Given the description of an element on the screen output the (x, y) to click on. 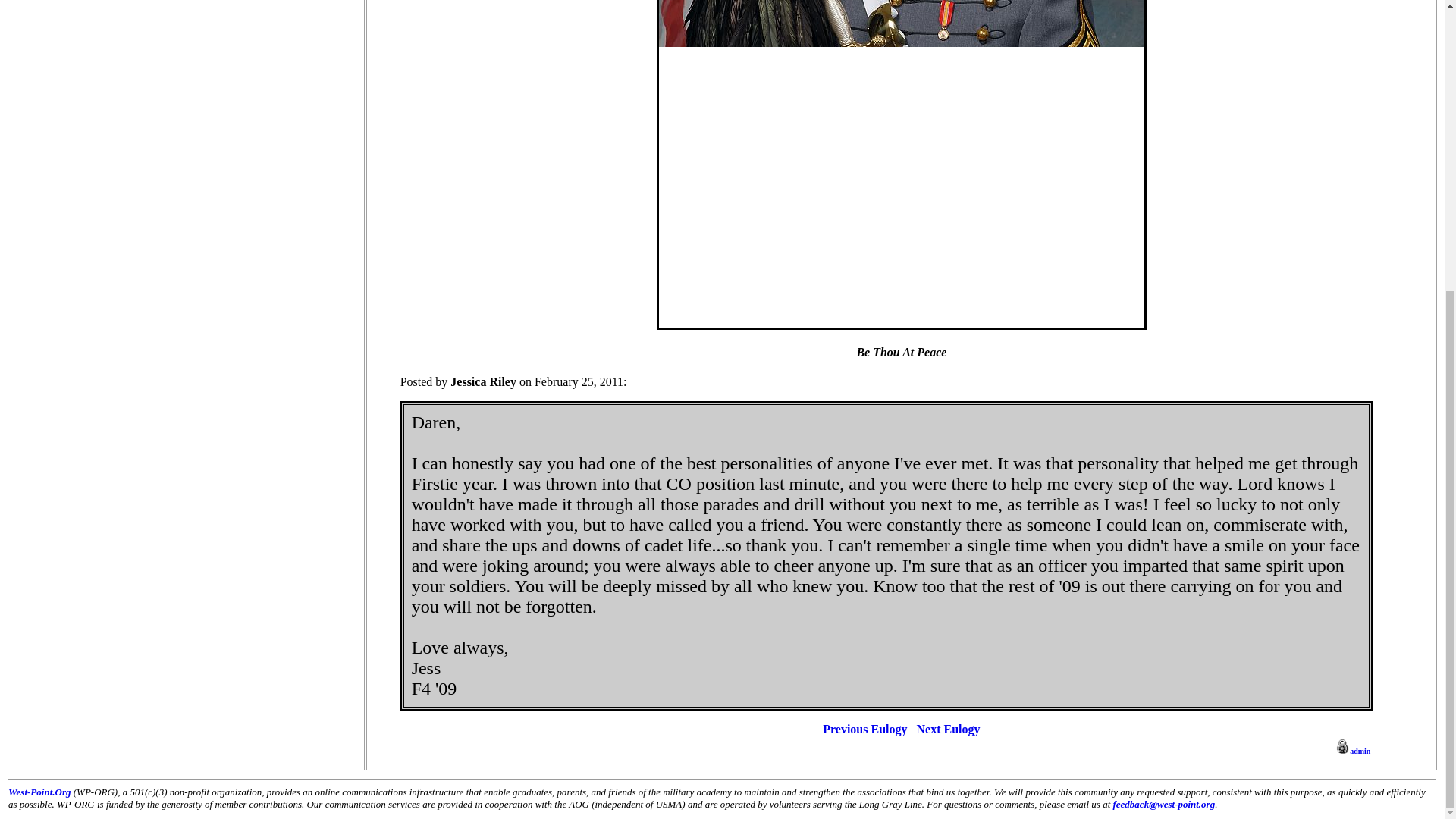
admin (1352, 748)
Next Eulogy (948, 728)
West-Point.Org (38, 791)
Previous Eulogy (864, 728)
